Given the description of an element on the screen output the (x, y) to click on. 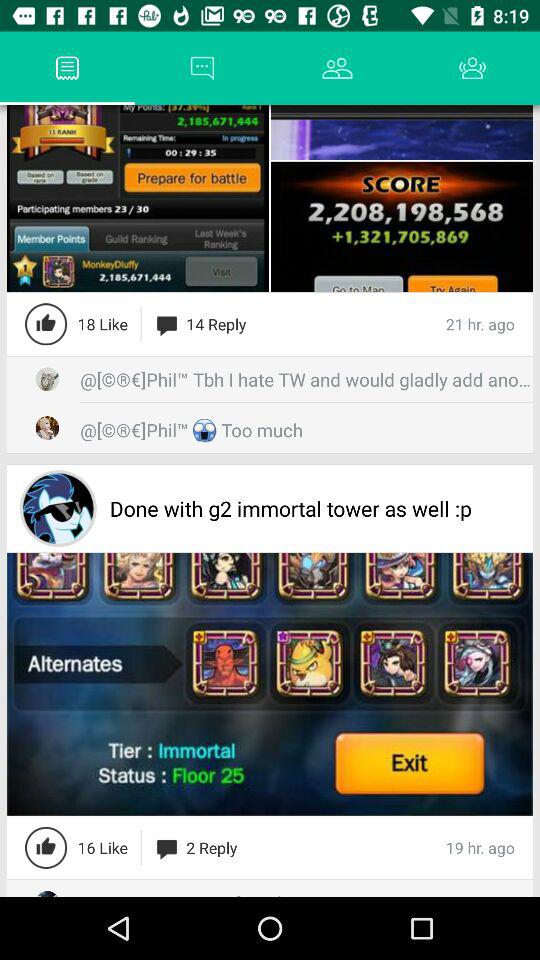
a thumbs up symbol that represents a like (46, 324)
